Given the description of an element on the screen output the (x, y) to click on. 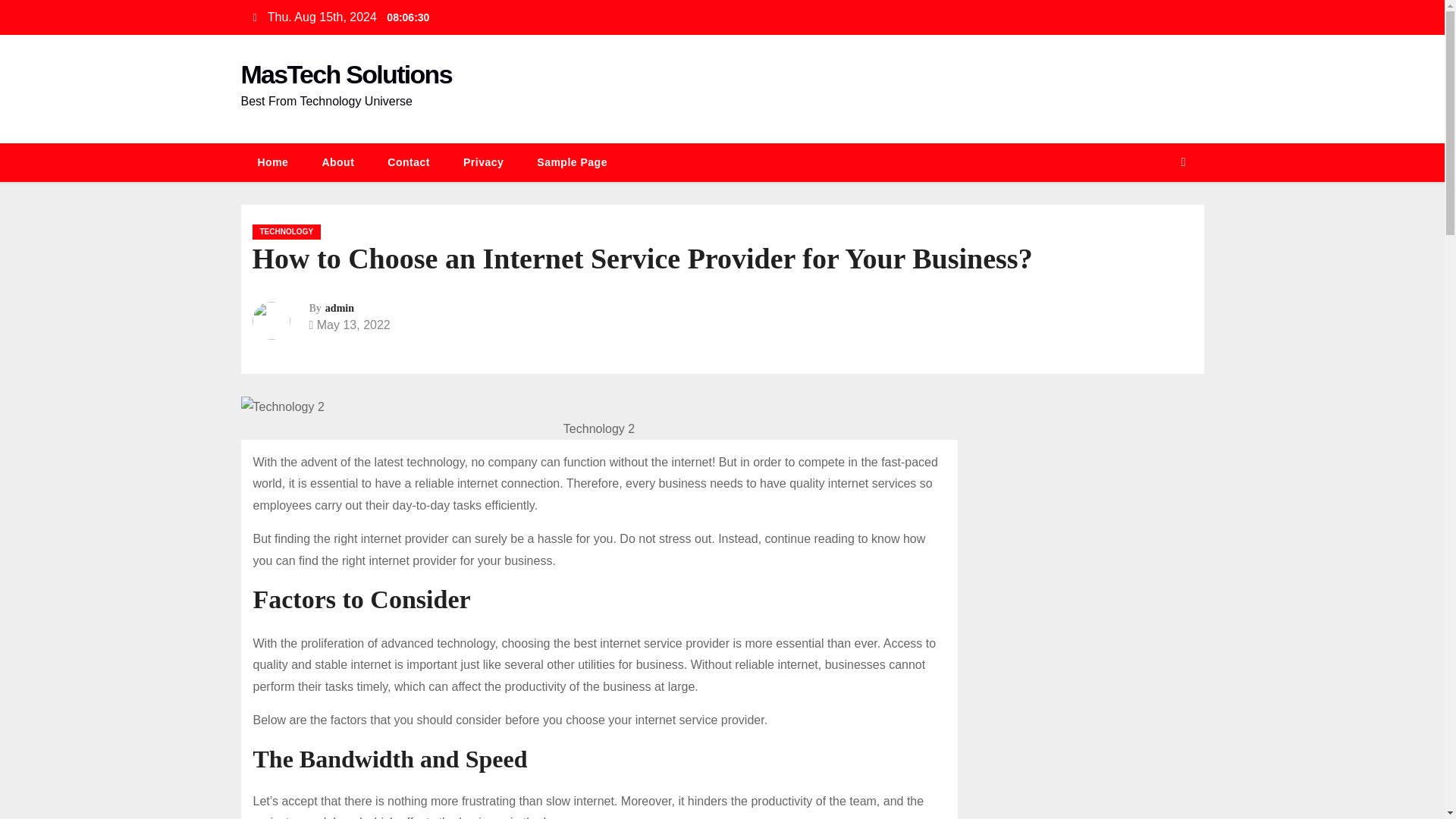
Sample Page (571, 162)
Privacy (482, 162)
TECHNOLOGY (285, 231)
Home (273, 162)
MasTech Solutions (346, 73)
About (337, 162)
admin (338, 307)
Home (273, 162)
Contact (408, 162)
